Given the description of an element on the screen output the (x, y) to click on. 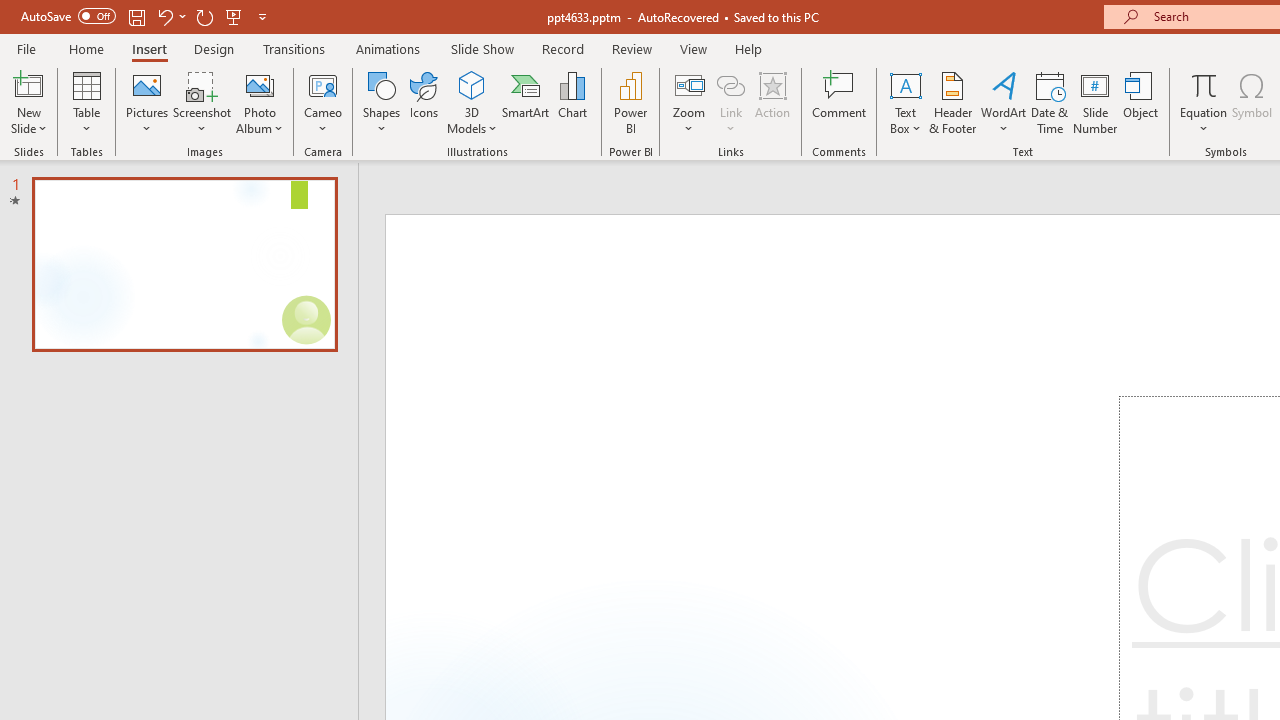
Date & Time... (1050, 102)
Comment (839, 102)
Power BI (630, 102)
Table (86, 102)
New Photo Album... (259, 84)
Screenshot (202, 102)
